Given the description of an element on the screen output the (x, y) to click on. 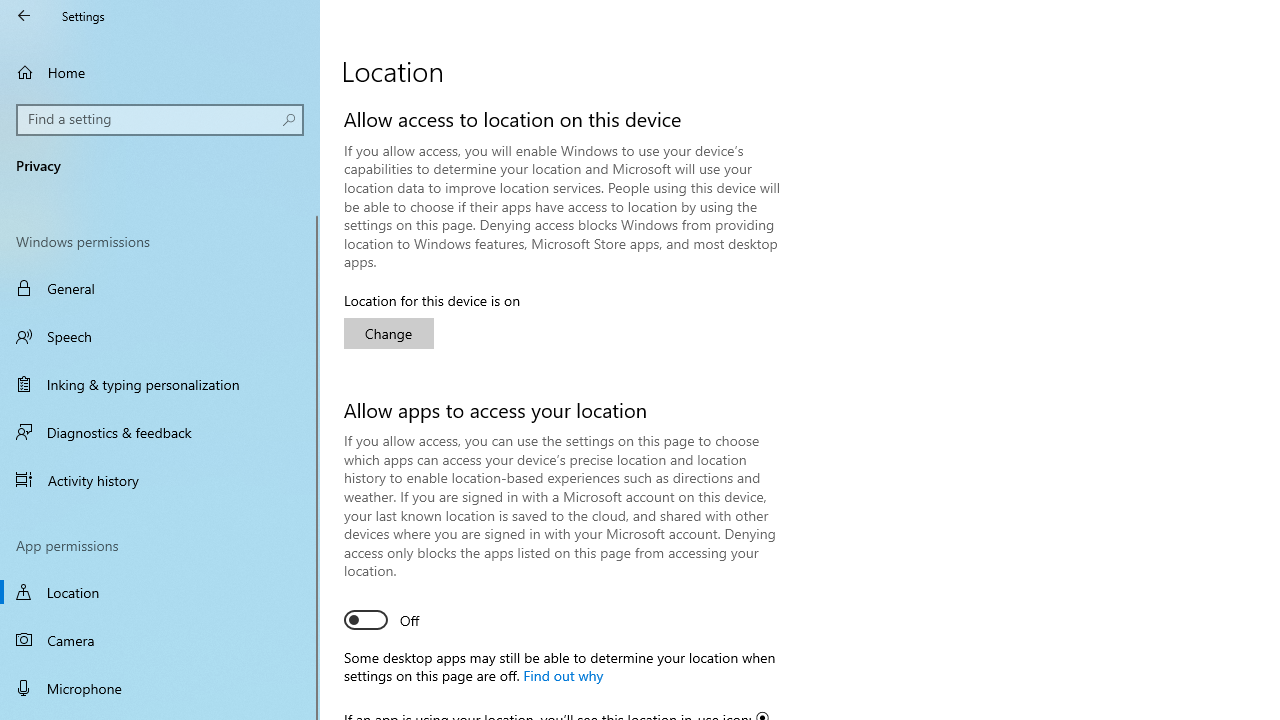
Speech (160, 335)
Camera (160, 639)
General (160, 287)
Activity history (160, 479)
Diagnostics & feedback (160, 431)
Inking & typing personalization (160, 384)
Change (388, 333)
Microphone (160, 687)
Find out why (562, 675)
Location (160, 592)
Search box, Find a setting (160, 119)
Allow apps to access your location (381, 619)
